Given the description of an element on the screen output the (x, y) to click on. 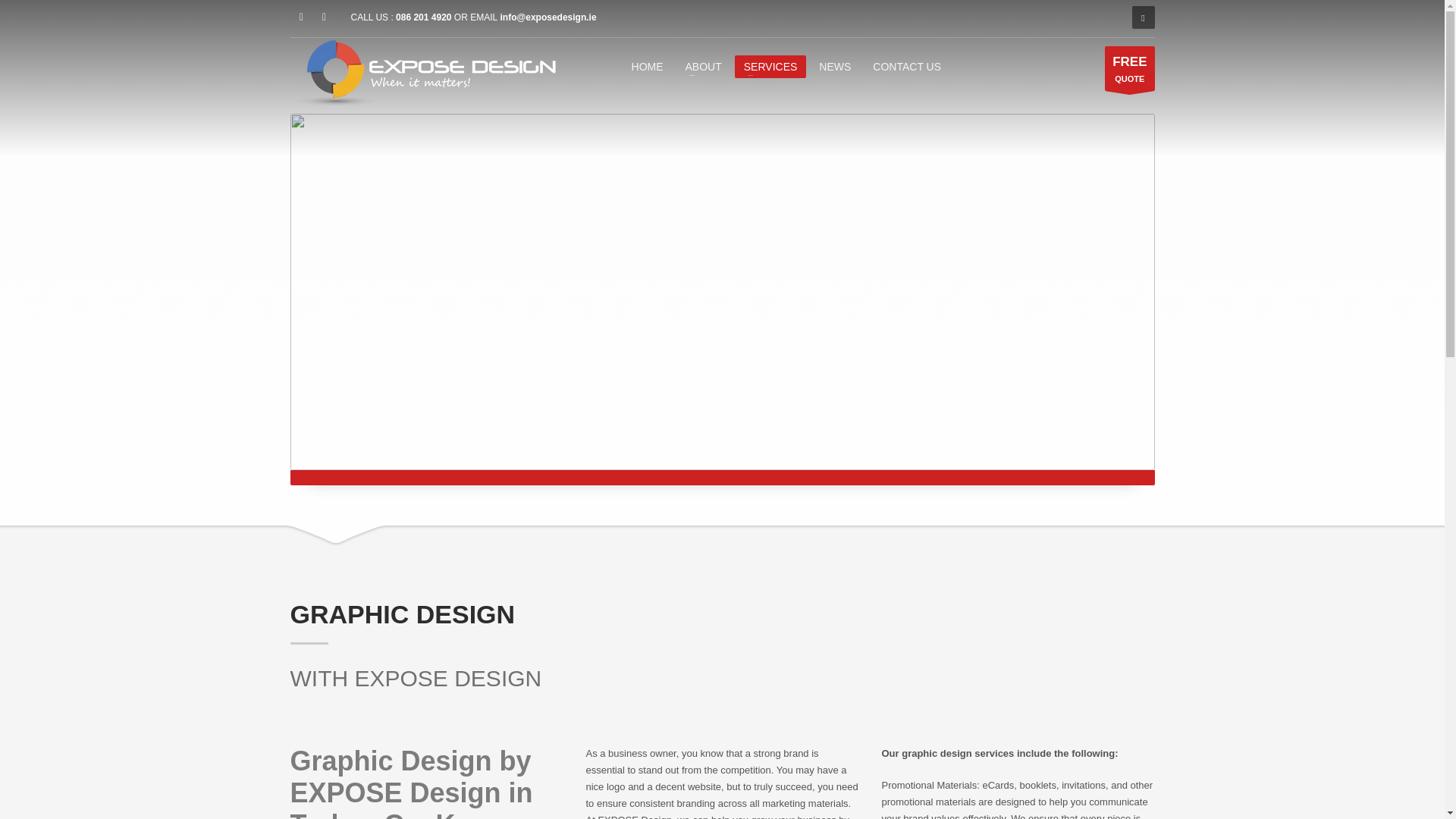
E-Commerce, Logo and Branding - Tralee, Killarney, Co. Kerry (421, 73)
ABOUT (703, 66)
HOME (647, 66)
NEWS (1129, 67)
Facebook (834, 66)
SERVICES (301, 16)
Twitter (770, 66)
086 201 4920 (323, 16)
CONTACT US (425, 17)
